Given the description of an element on the screen output the (x, y) to click on. 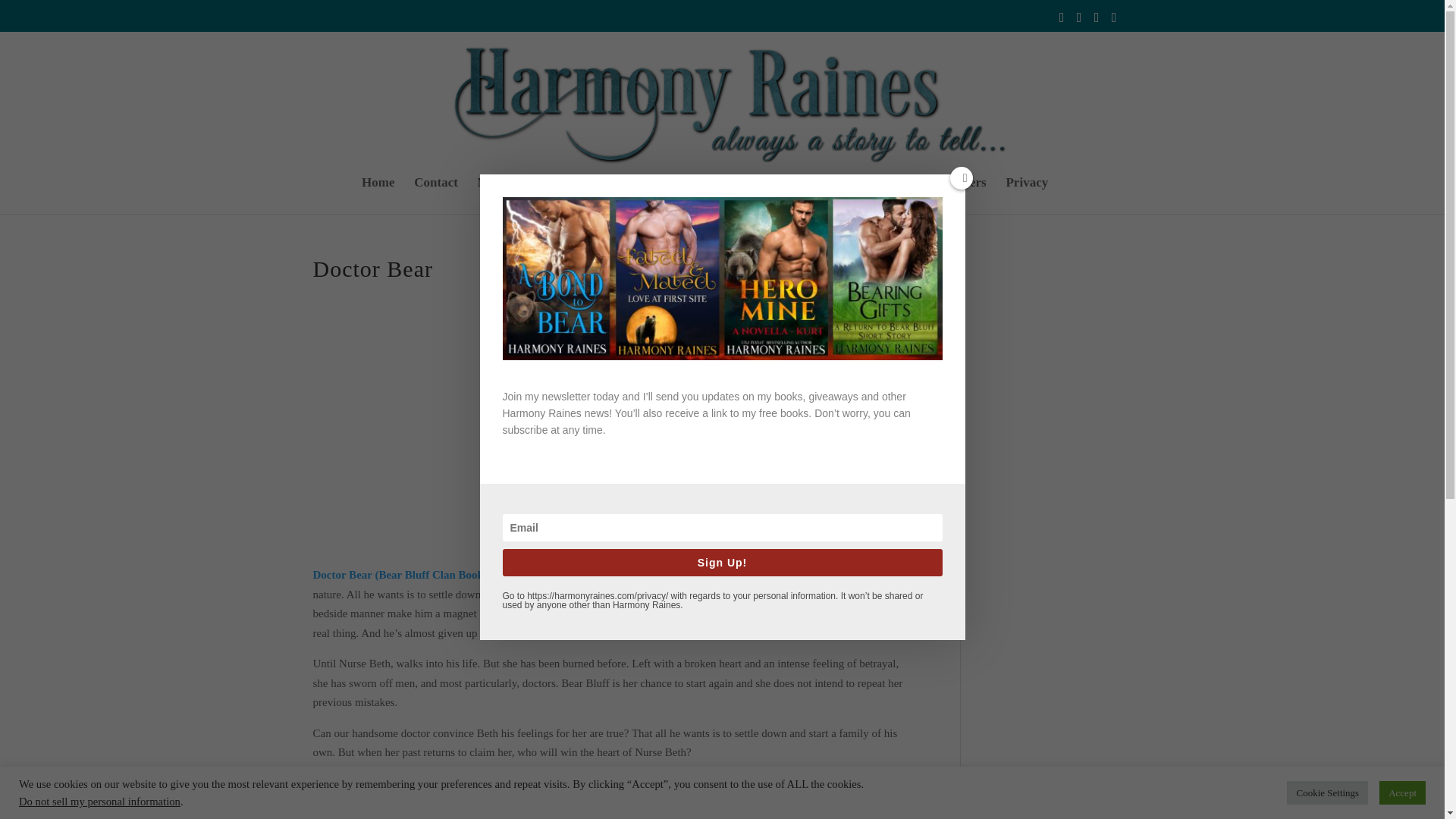
Contact (435, 195)
Accept (1401, 792)
Do not sell my personal information (99, 801)
Cookie Settings (1327, 792)
Newsletter Sign-Up (531, 195)
New Releases and Preorders (908, 195)
Home (377, 195)
Box Sets (786, 195)
Privacy (1027, 195)
